Given the description of an element on the screen output the (x, y) to click on. 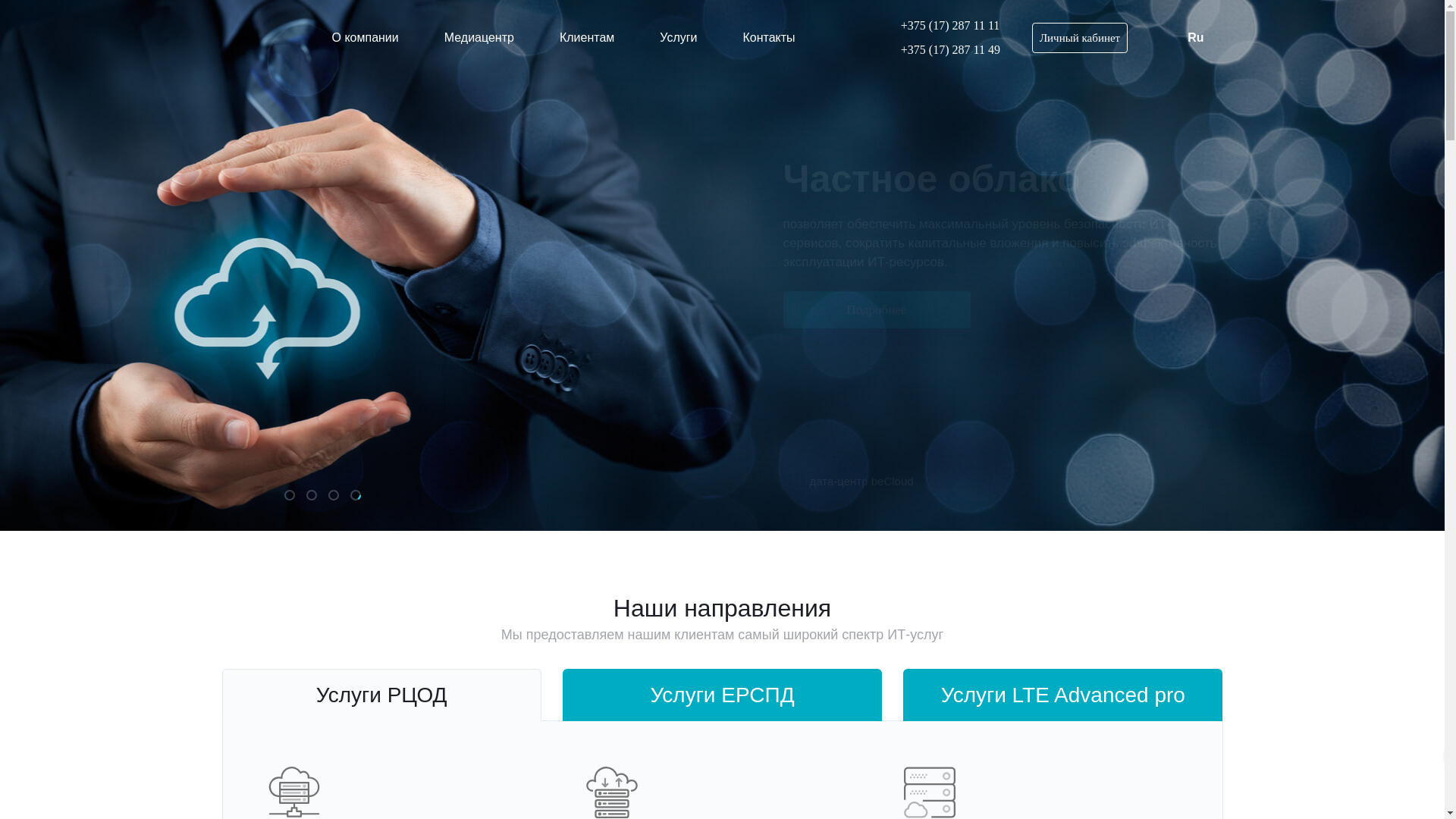
+375 (17) 287 11 11 Element type: text (941, 25)
beCloud Element type: hover (257, 37)
+375 (17) 287 11 49 Element type: text (941, 49)
